Given the description of an element on the screen output the (x, y) to click on. 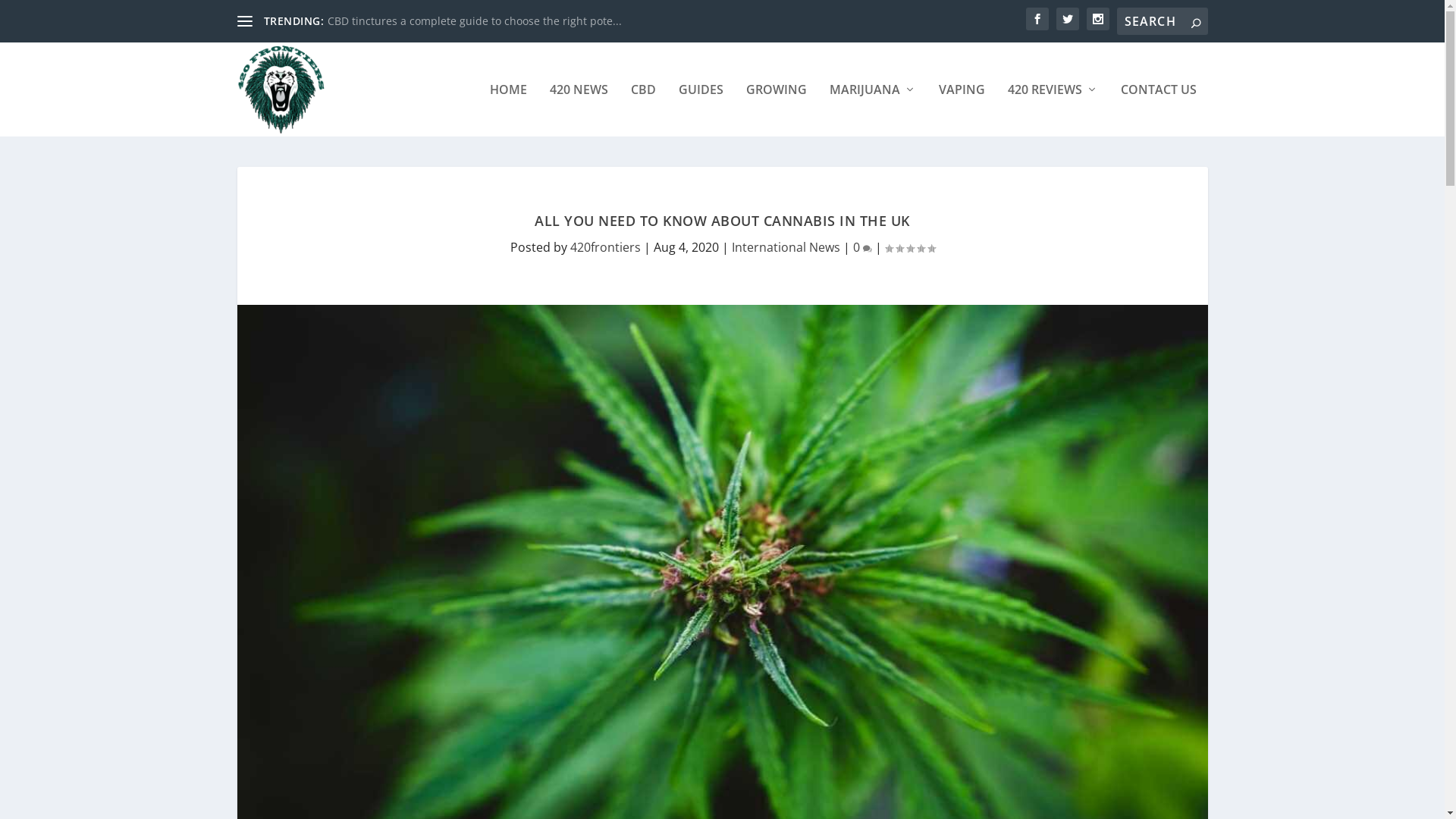
CBD Element type: text (642, 109)
420frontiers Element type: text (605, 246)
Search for: Element type: hover (1161, 20)
CBD tinctures a complete guide to choose the right pote... Element type: text (474, 20)
comment count Element type: hover (867, 248)
GROWING Element type: text (776, 109)
GUIDES Element type: text (699, 109)
VAPING Element type: text (961, 109)
0 Element type: text (861, 246)
420 REVIEWS Element type: text (1052, 109)
420 NEWS Element type: text (578, 109)
International News Element type: text (785, 246)
Rating: 0.00 Element type: hover (909, 247)
CONTACT US Element type: text (1158, 109)
HOME Element type: text (508, 109)
MARIJUANA Element type: text (872, 109)
